Given the description of an element on the screen output the (x, y) to click on. 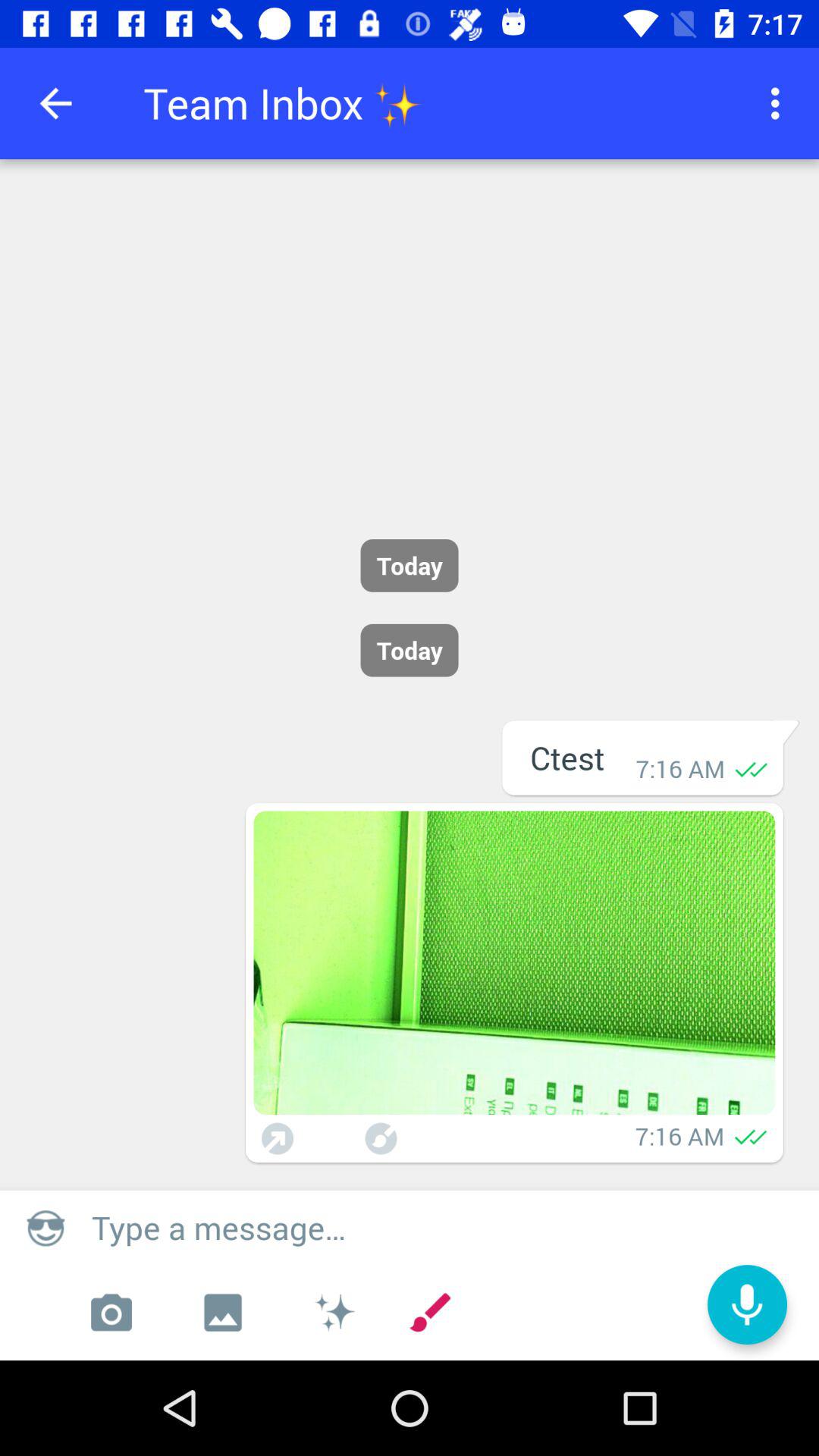
insert message (447, 1227)
